Given the description of an element on the screen output the (x, y) to click on. 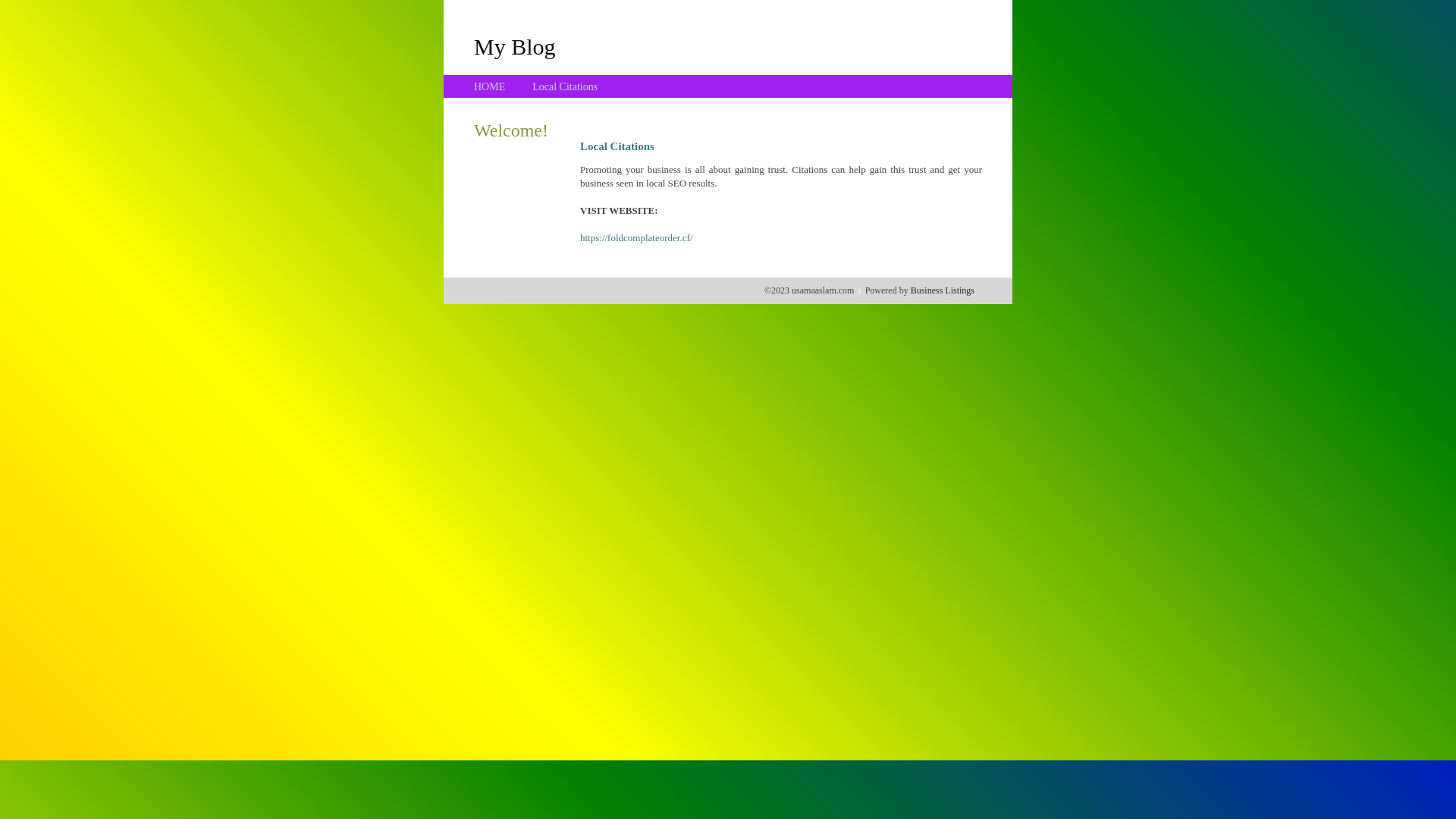
Local Citations Element type: text (564, 86)
https://foldcomplateorder.cf/ Element type: text (636, 237)
Business Listings Element type: text (942, 290)
My Blog Element type: text (514, 46)
HOME Element type: text (489, 86)
